Given the description of an element on the screen output the (x, y) to click on. 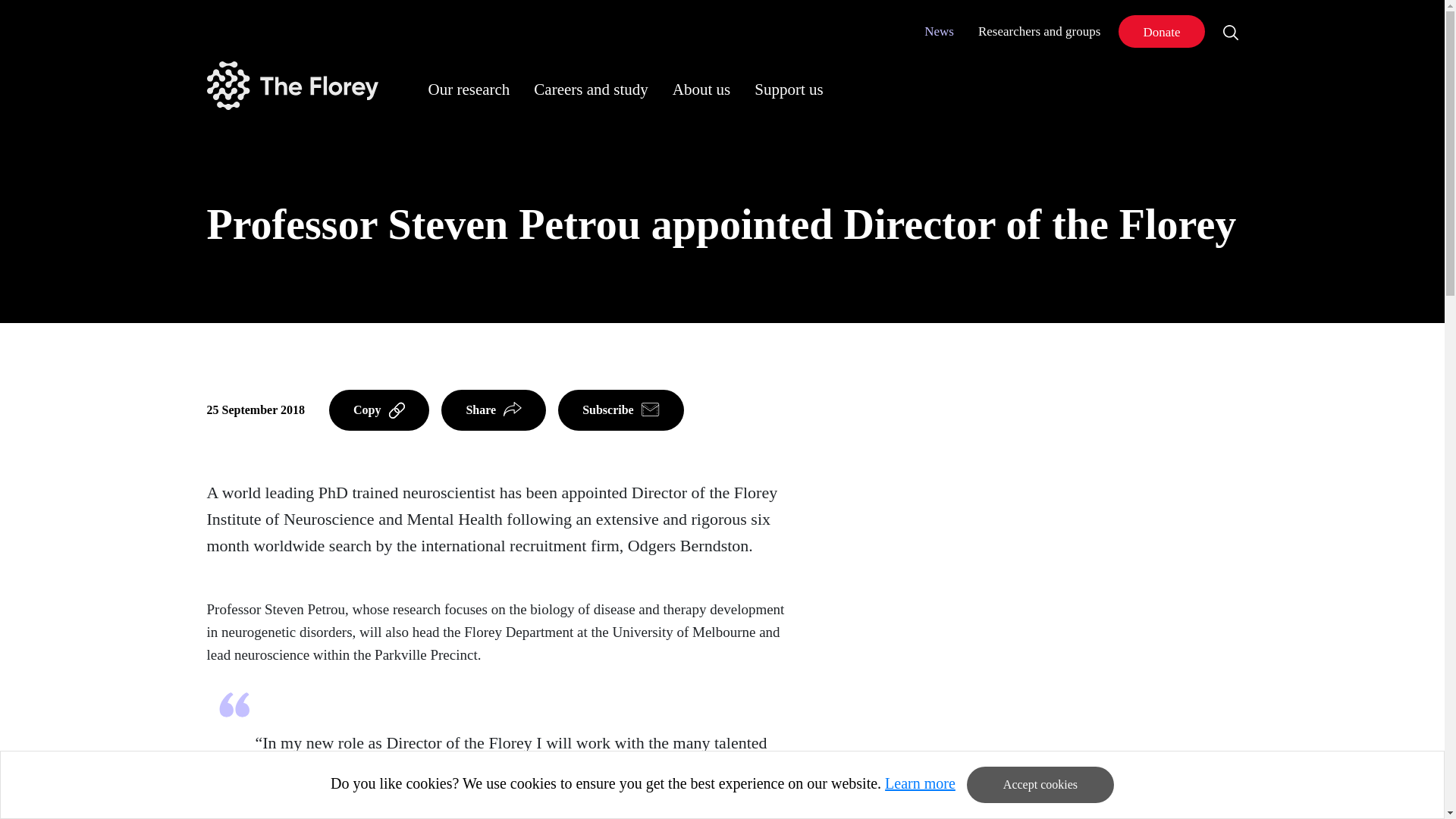
Our research (467, 90)
Researchers and groups (1039, 31)
Site Search (1230, 31)
News (939, 31)
The Florey - Advancing Brain Research (291, 85)
The Florey (291, 85)
Donate (1161, 31)
